Given the description of an element on the screen output the (x, y) to click on. 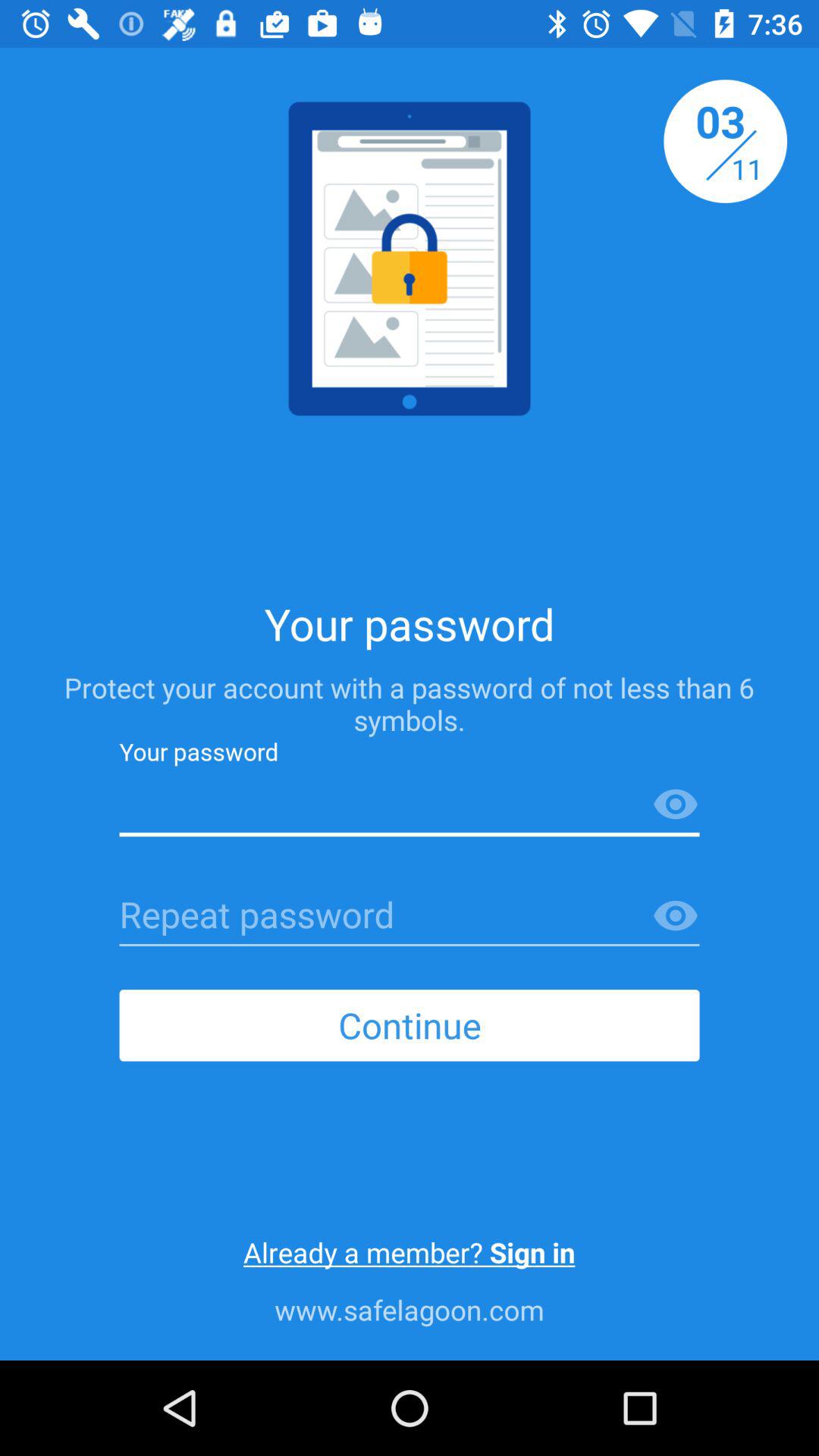
enter password (409, 916)
